Given the description of an element on the screen output the (x, y) to click on. 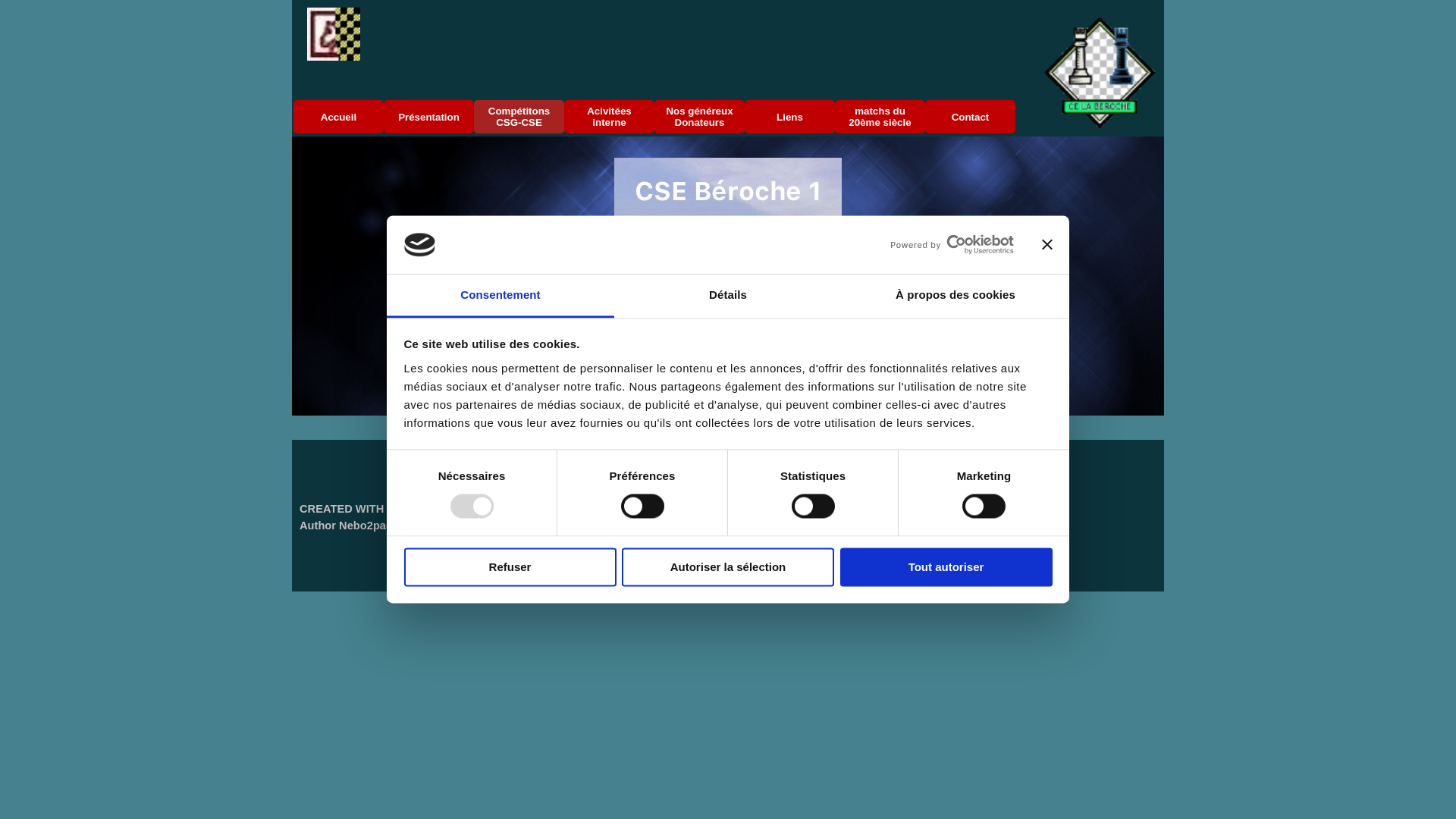
Consentement Element type: text (500, 295)
Tout autoriser Element type: text (946, 566)
Playchess server Element type: hover (936, 481)
Accueil Element type: text (338, 116)
Logo Element type: hover (1099, 71)
Refuser Element type: text (509, 566)
Gift Element type: hover (333, 33)
Lichess site Element type: hover (837, 482)
site chess.com pour jouer Element type: hover (727, 480)
